Given the description of an element on the screen output the (x, y) to click on. 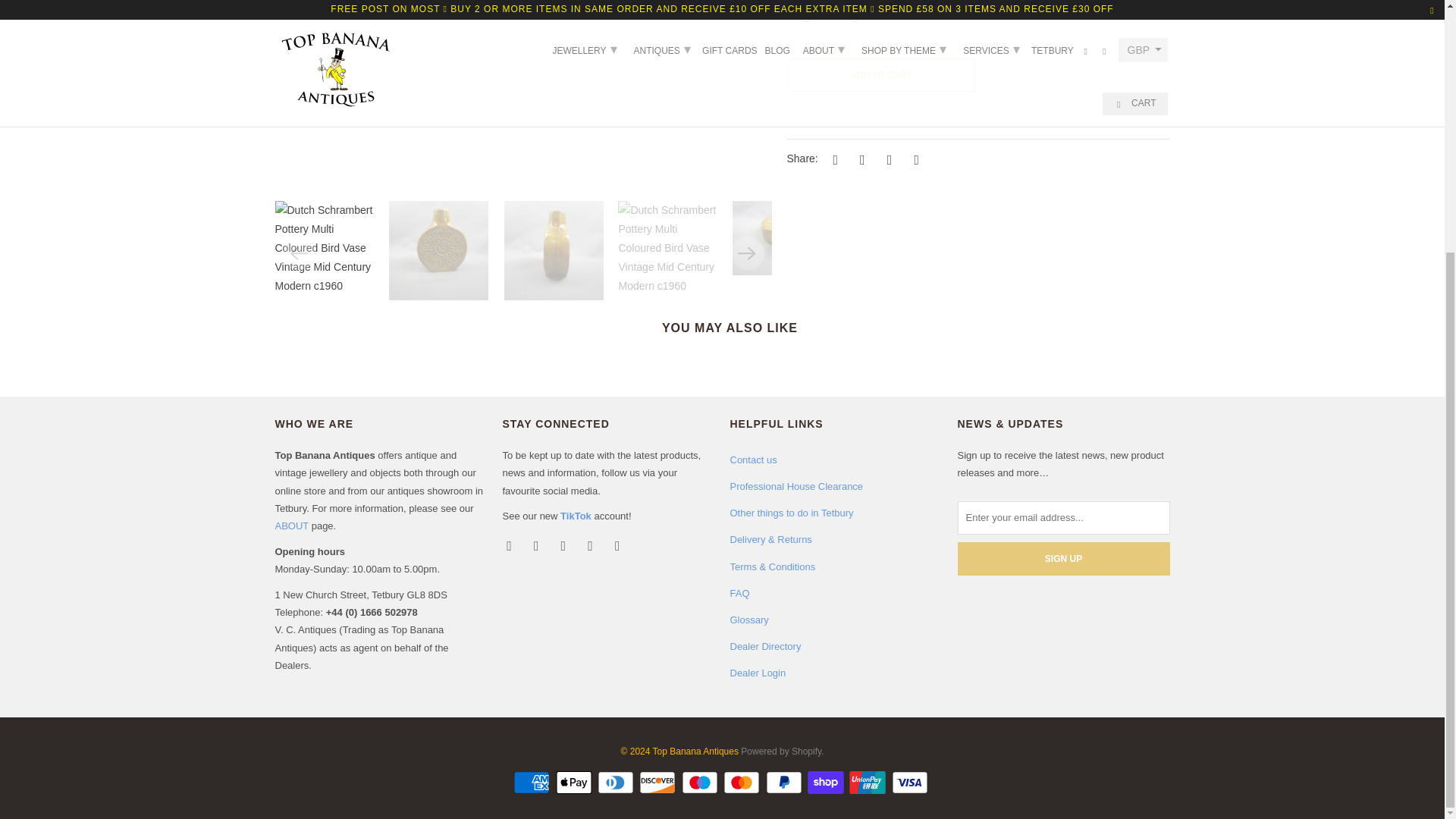
Union Pay (868, 782)
About us (291, 525)
Apple Pay (575, 782)
Share this on Facebook (859, 159)
American Express (533, 782)
Share this on Pinterest (887, 159)
PayPal (785, 782)
Diners Club (616, 782)
Sign Up (1062, 558)
Discover (658, 782)
Maestro (700, 782)
Mastercard (742, 782)
Top Banana Antiques on Twitter (510, 544)
Shop Pay (827, 782)
Share this on Twitter (833, 159)
